Given the description of an element on the screen output the (x, y) to click on. 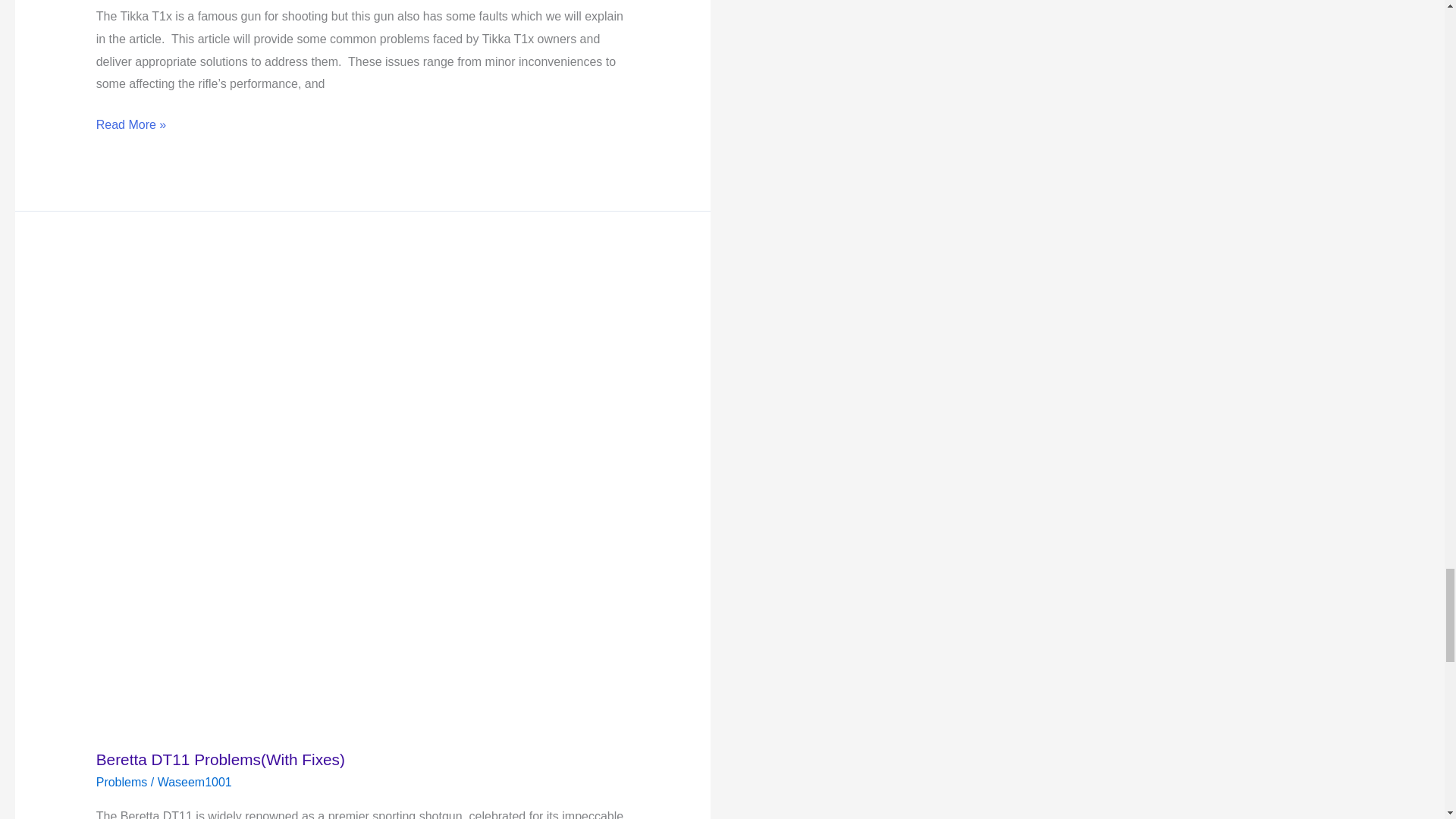
View all posts by Waseem1001 (194, 781)
